Given the description of an element on the screen output the (x, y) to click on. 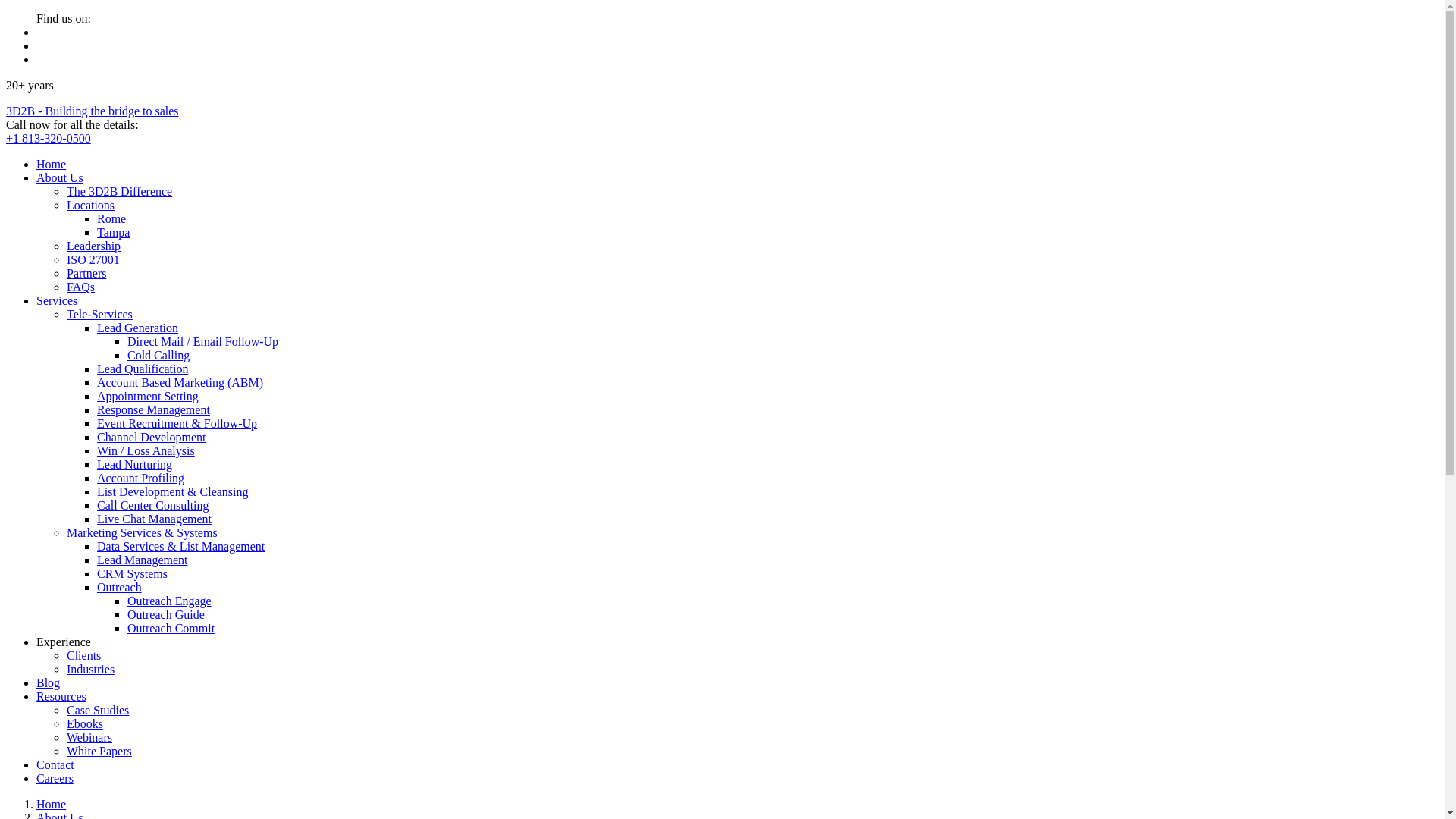
Win / Loss Analysis Element type: text (145, 450)
Case Studies Element type: text (97, 709)
List Development & Cleansing Element type: text (172, 491)
Services Element type: text (56, 300)
Data Services & List Management Element type: text (180, 545)
Contact Element type: text (55, 764)
3D2B - Building the bridge to sales Element type: text (92, 110)
Tampa Element type: text (113, 231)
Ebooks Element type: text (84, 723)
Blog Element type: text (47, 682)
About Us Element type: text (59, 177)
Cold Calling Element type: text (158, 354)
Rome Element type: text (111, 218)
Account Profiling Element type: text (140, 477)
Appointment Setting Element type: text (147, 395)
The 3D2B Difference Element type: text (119, 191)
Careers Element type: text (54, 777)
Lead Management Element type: text (142, 559)
Lead Qualification Element type: text (142, 368)
Industries Element type: text (90, 668)
Tele-Services Element type: text (99, 313)
Outreach Guide Element type: text (165, 614)
+1 813-320-0500 Element type: text (48, 137)
Home Element type: text (50, 803)
Leadership Element type: text (93, 245)
Outreach Engage Element type: text (169, 600)
Live Chat Management Element type: text (154, 518)
Lead Generation Element type: text (137, 327)
Response Management Element type: text (153, 409)
Locations Element type: text (90, 204)
Outreach Element type: text (119, 586)
CRM Systems Element type: text (132, 573)
White Papers Element type: text (98, 750)
Skip to main content Element type: text (6, 12)
Clients Element type: text (83, 655)
Outreach Commit Element type: text (170, 627)
Channel Development Element type: text (151, 436)
ISO 27001 Element type: text (92, 259)
Resources Element type: text (61, 696)
Marketing Services & Systems Element type: text (141, 532)
Lead Nurturing Element type: text (134, 464)
Webinars Element type: text (89, 737)
Partners Element type: text (86, 272)
Account Based Marketing (ABM) Element type: text (180, 382)
Direct Mail / Email Follow-Up Element type: text (202, 341)
Call Center Consulting Element type: text (153, 504)
FAQs Element type: text (80, 286)
Home Element type: text (50, 163)
Event Recruitment & Follow-Up Element type: text (177, 423)
